Given the description of an element on the screen output the (x, y) to click on. 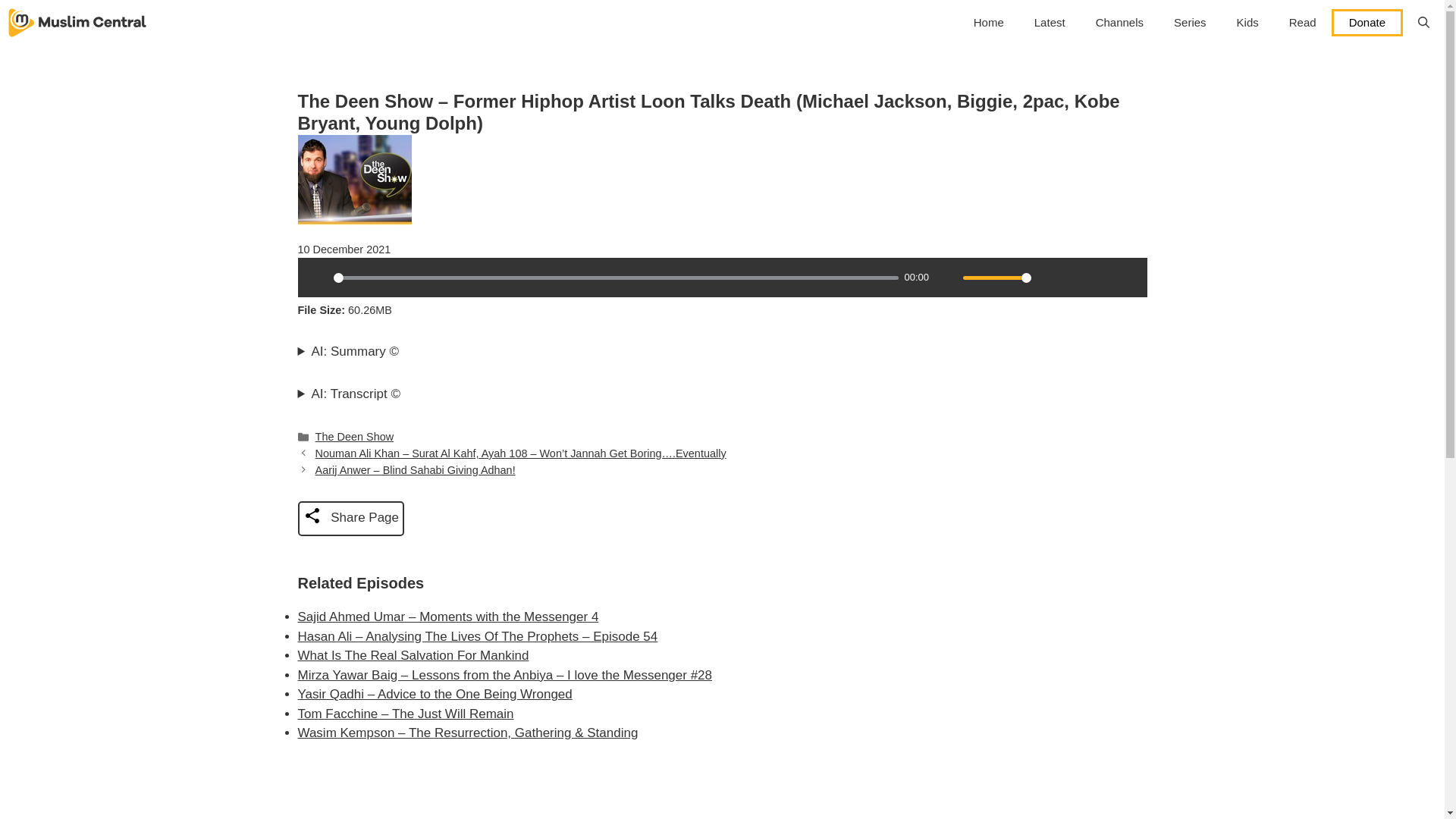
What Is The Real Salvation For Mankind (412, 655)
0 (615, 278)
Play (316, 277)
The Deen Show (354, 436)
Muslim Central (77, 22)
Download (1074, 277)
Latest (1049, 22)
Series (1189, 22)
Channels (1119, 22)
Home (988, 22)
